Given the description of an element on the screen output the (x, y) to click on. 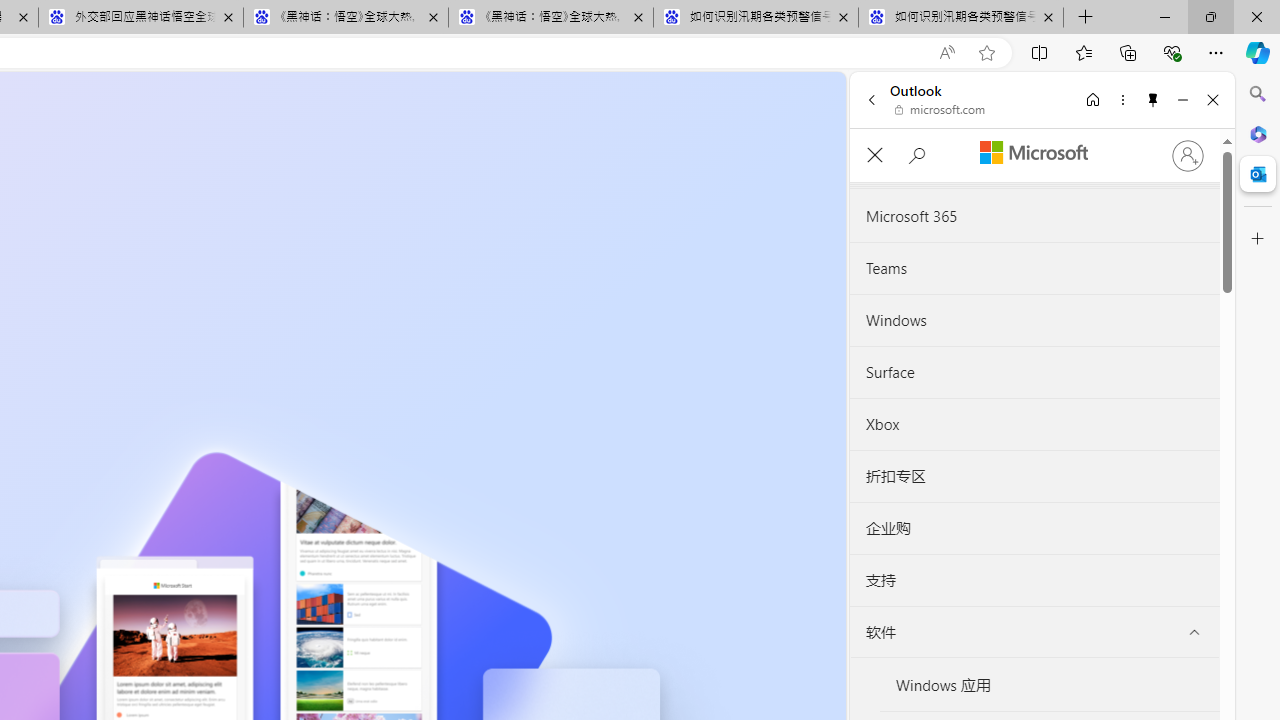
Xbox (1034, 424)
Unpin side pane (1153, 99)
Teams (1034, 269)
Home (1093, 99)
microsoft.com (940, 110)
Windows (1034, 321)
Surface (1034, 372)
